Given the description of an element on the screen output the (x, y) to click on. 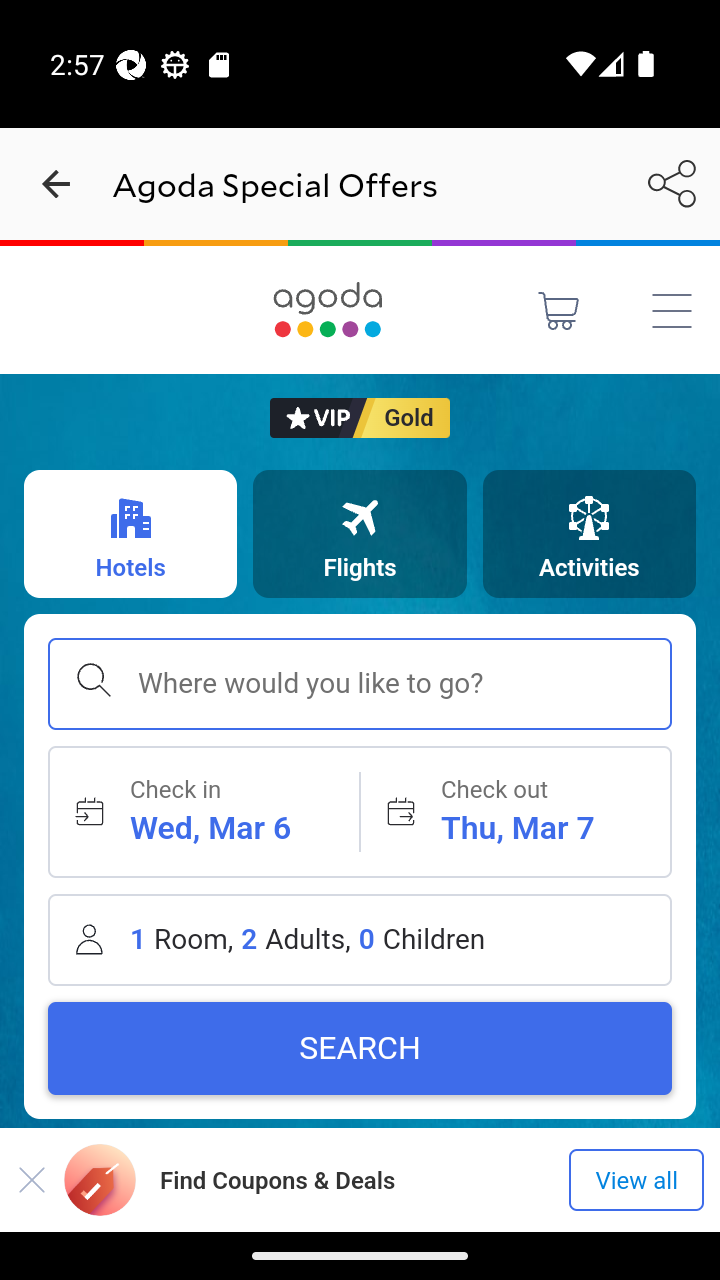
navigation_button (56, 184)
Share (672, 183)
Agoda logo Home link PrimaryLogo (327, 309)
Shopping Cart Button (559, 309)
Hotels (130, 533)
Flights (359, 533)
Activities (588, 533)
Where would you like to go? (359, 684)
Check in Wed, Mar 6 Check out Thu, Mar 7 (359, 811)
1Room,2Adults,0Children (359, 939)
SEARCH (359, 1048)
Find Coupons & Deals View all (360, 1179)
View all (636, 1180)
